Given the description of an element on the screen output the (x, y) to click on. 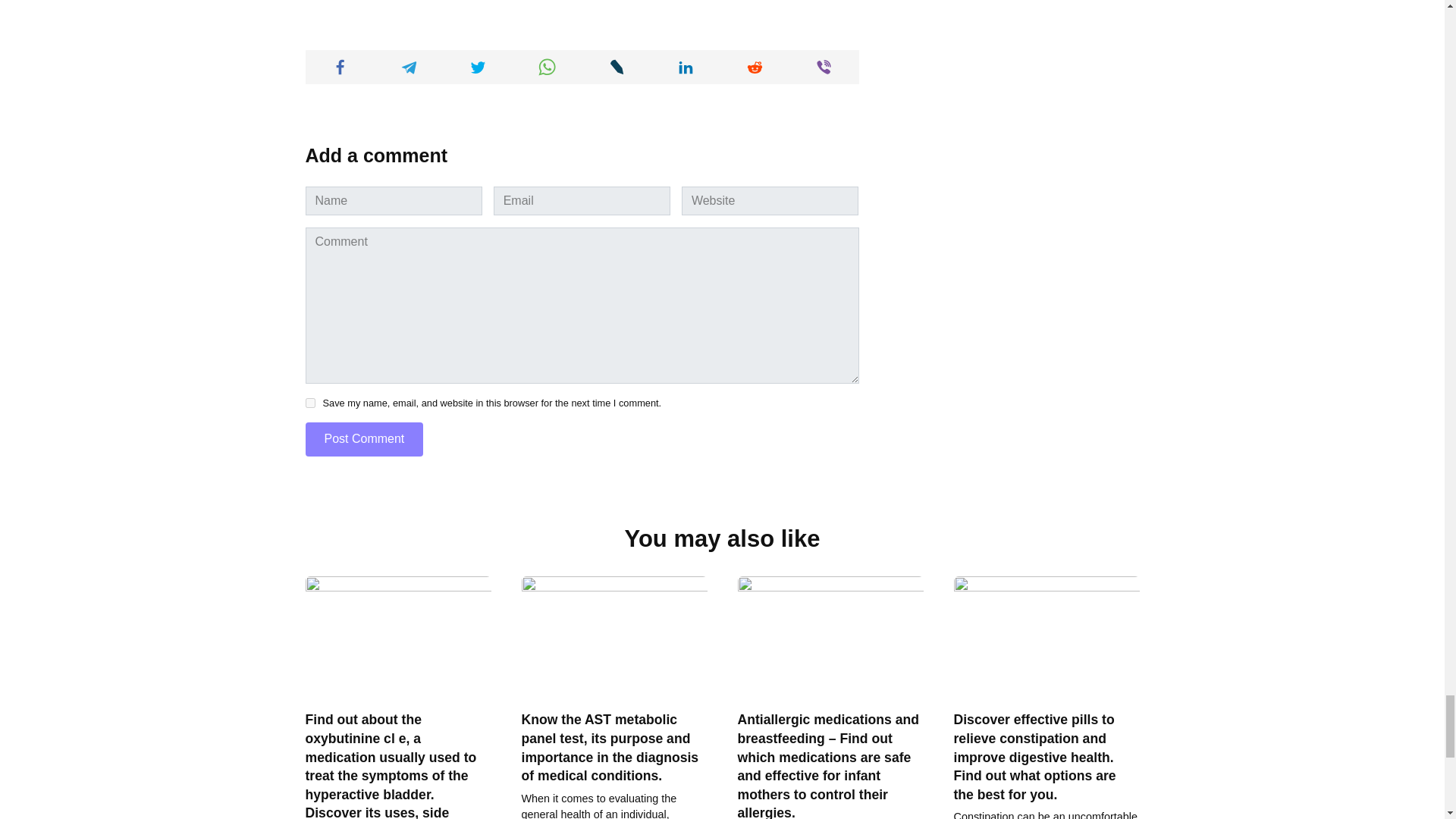
Post Comment (363, 439)
Post Comment (363, 439)
yes (309, 402)
